Given the description of an element on the screen output the (x, y) to click on. 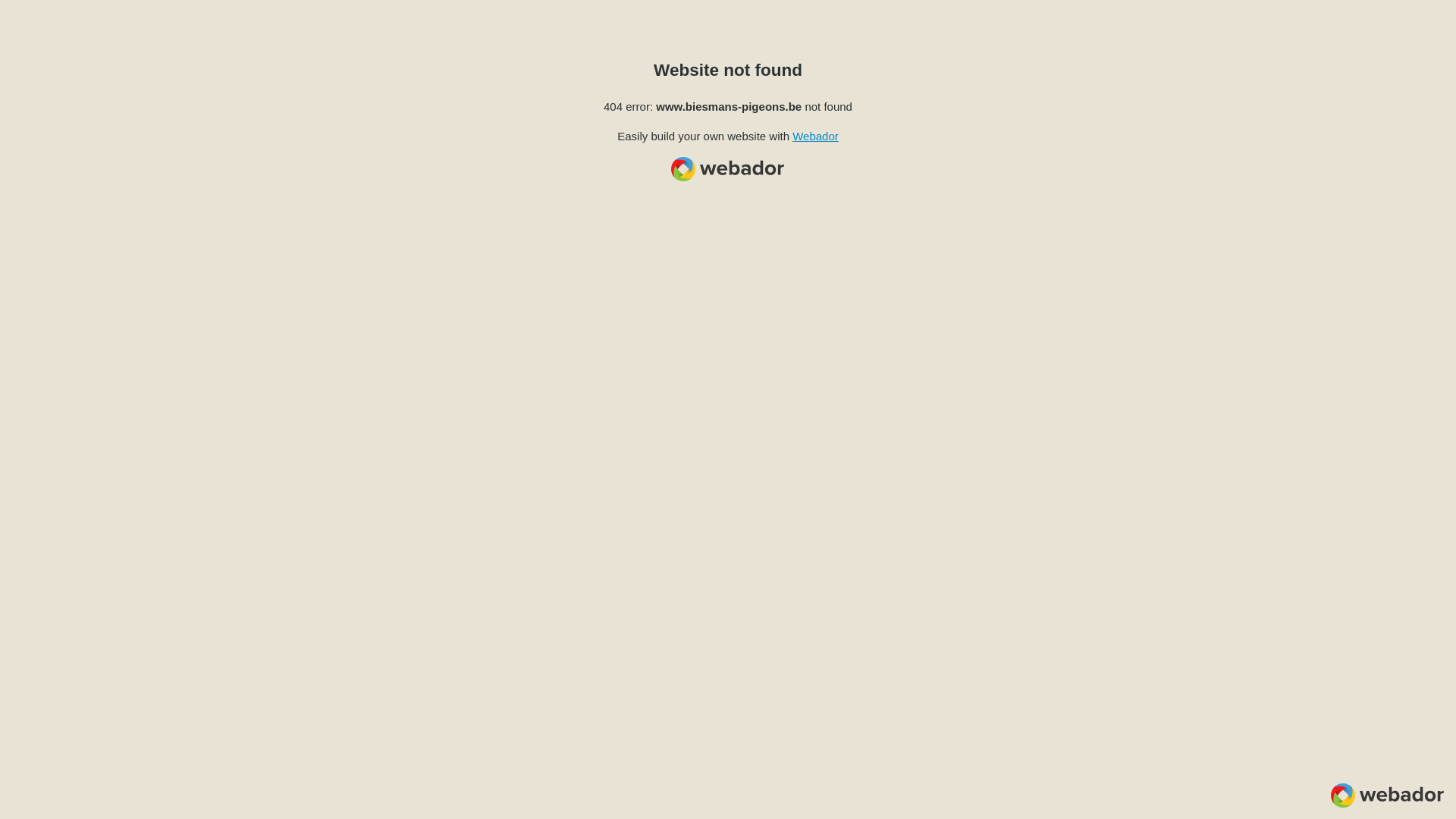
Webador Element type: text (815, 135)
